Given the description of an element on the screen output the (x, y) to click on. 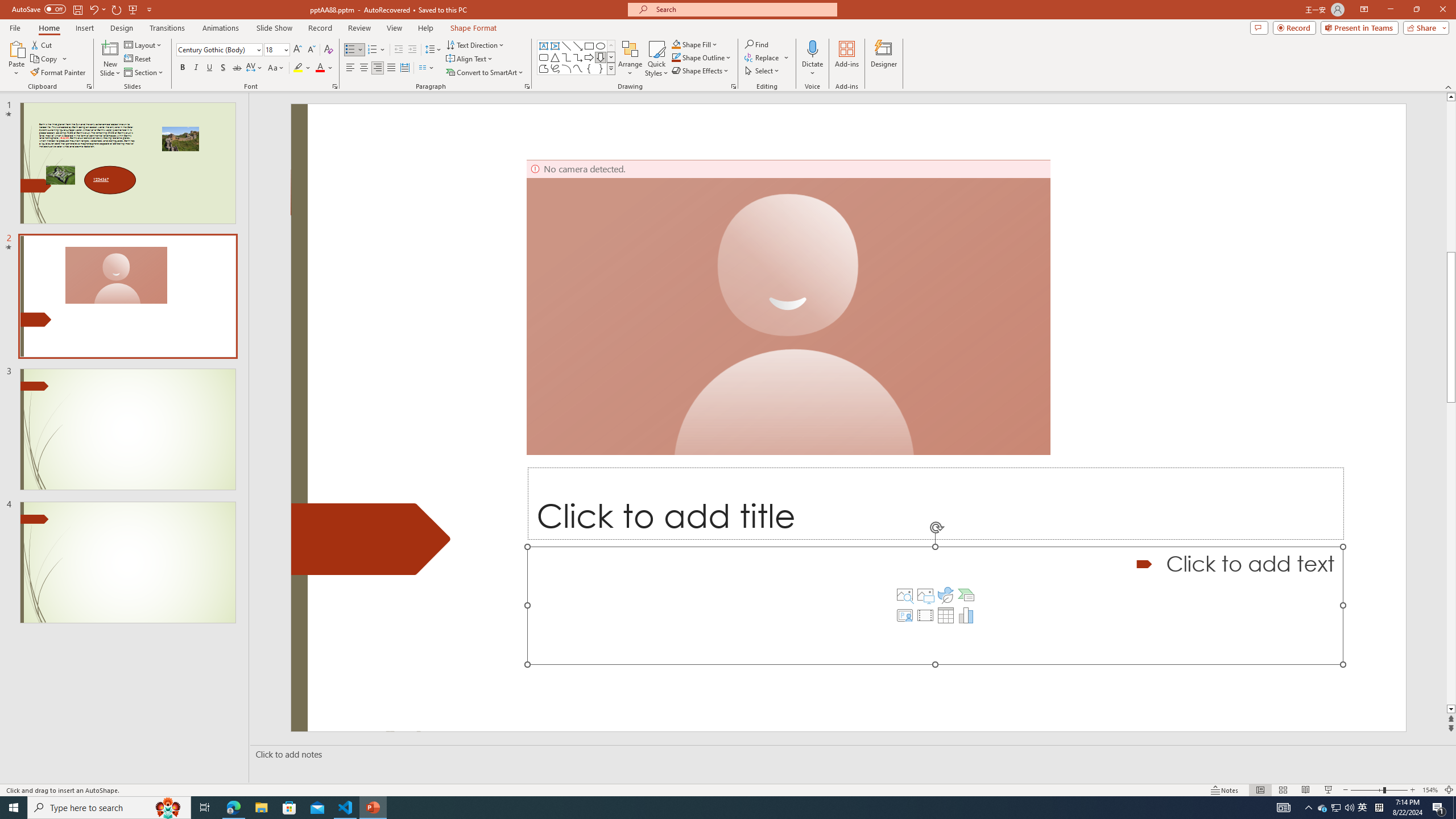
Content Placeholder (934, 605)
